Given the description of an element on the screen output the (x, y) to click on. 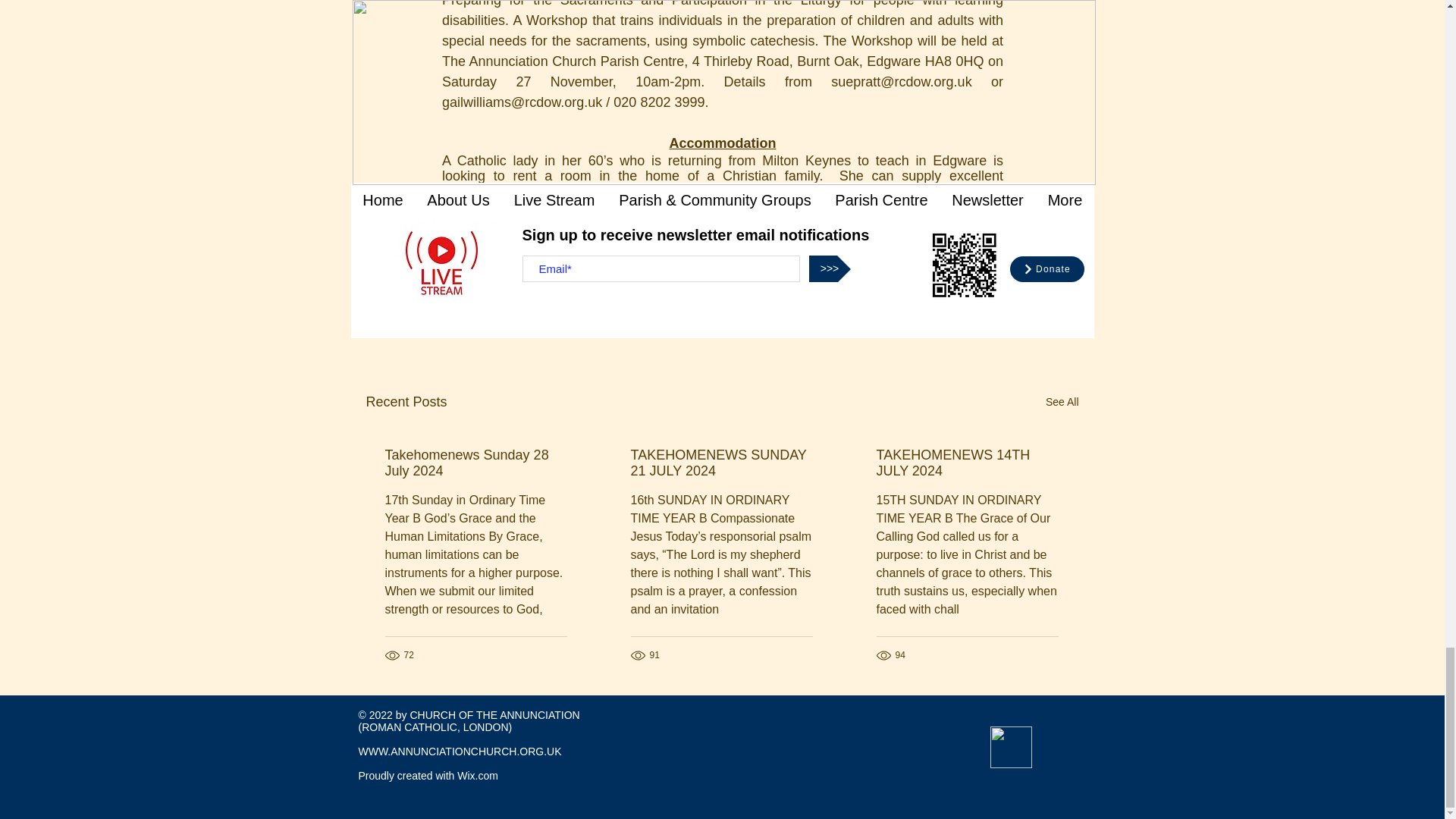
Takehomenews Sunday 28 July 2024 (476, 463)
See All (1061, 402)
TAKEHOMENEWS SUNDAY 21 JULY 2024 (721, 463)
Wix.com (477, 775)
TAKEHOMENEWS 14TH JULY 2024 (967, 463)
WWW.ANNUNCIATIONCHURCH.ORG.UK (459, 751)
